Given the description of an element on the screen output the (x, y) to click on. 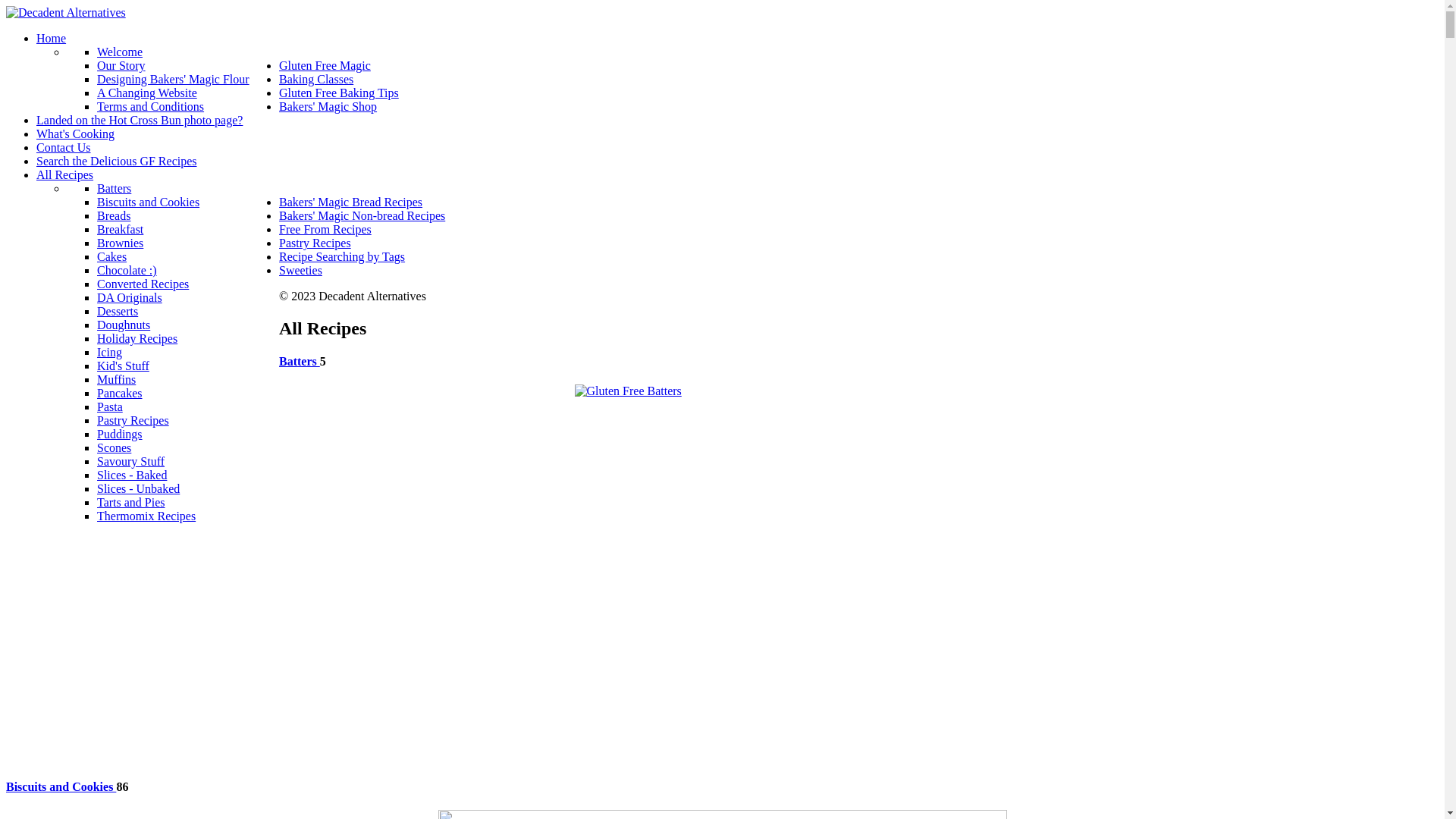
Designing Bakers' Magic Flour Element type: text (173, 78)
Biscuits and Cookies Element type: text (148, 201)
Breakfast Element type: text (120, 228)
Tarts and Pies Element type: text (131, 501)
Our Story Element type: text (121, 65)
Holiday Recipes Element type: text (137, 338)
Scones Element type: text (114, 447)
Baking Classes Element type: text (316, 78)
Gluten Free Magic Element type: text (324, 65)
Bakers' Magic Shop Element type: text (327, 106)
Landed on the Hot Cross Bun photo page? Element type: text (139, 119)
Sweeties Element type: text (300, 269)
Savoury Stuff Element type: text (130, 461)
Pasta Element type: text (109, 406)
Icing Element type: text (109, 351)
Free From Recipes Element type: text (325, 228)
Pancakes Element type: text (119, 392)
Search the Delicious GF Recipes Element type: text (116, 160)
Gluten Free Baking Tips Element type: text (338, 92)
Pastry Recipes Element type: text (315, 242)
Batters Element type: text (114, 188)
Cakes Element type: text (111, 256)
Puddings Element type: text (119, 433)
Biscuits and Cookies Element type: text (61, 786)
Brownies Element type: text (120, 242)
Desserts Element type: text (117, 310)
Contact Us Element type: text (63, 147)
Chocolate :) Element type: text (126, 269)
Converted Recipes Element type: text (142, 283)
Terms and Conditions Element type: text (150, 106)
Home Element type: text (50, 37)
Welcome Element type: text (119, 51)
Slices - Baked Element type: text (131, 474)
Slices - Unbaked Element type: text (138, 488)
Bakers' Magic Bread Recipes Element type: text (350, 201)
A Changing Website Element type: text (147, 92)
Thermomix Recipes Element type: text (146, 515)
What's Cooking Element type: text (75, 133)
Kid's Stuff Element type: text (123, 365)
All Recipes Element type: text (64, 174)
Breads Element type: text (113, 215)
Batters Element type: text (299, 360)
Bakers' Magic Non-bread Recipes Element type: text (362, 215)
Pastry Recipes Element type: text (133, 420)
Muffins Element type: text (116, 379)
Doughnuts Element type: text (123, 324)
Recipe Searching by Tags Element type: text (341, 256)
DA Originals Element type: text (129, 297)
